Given the description of an element on the screen output the (x, y) to click on. 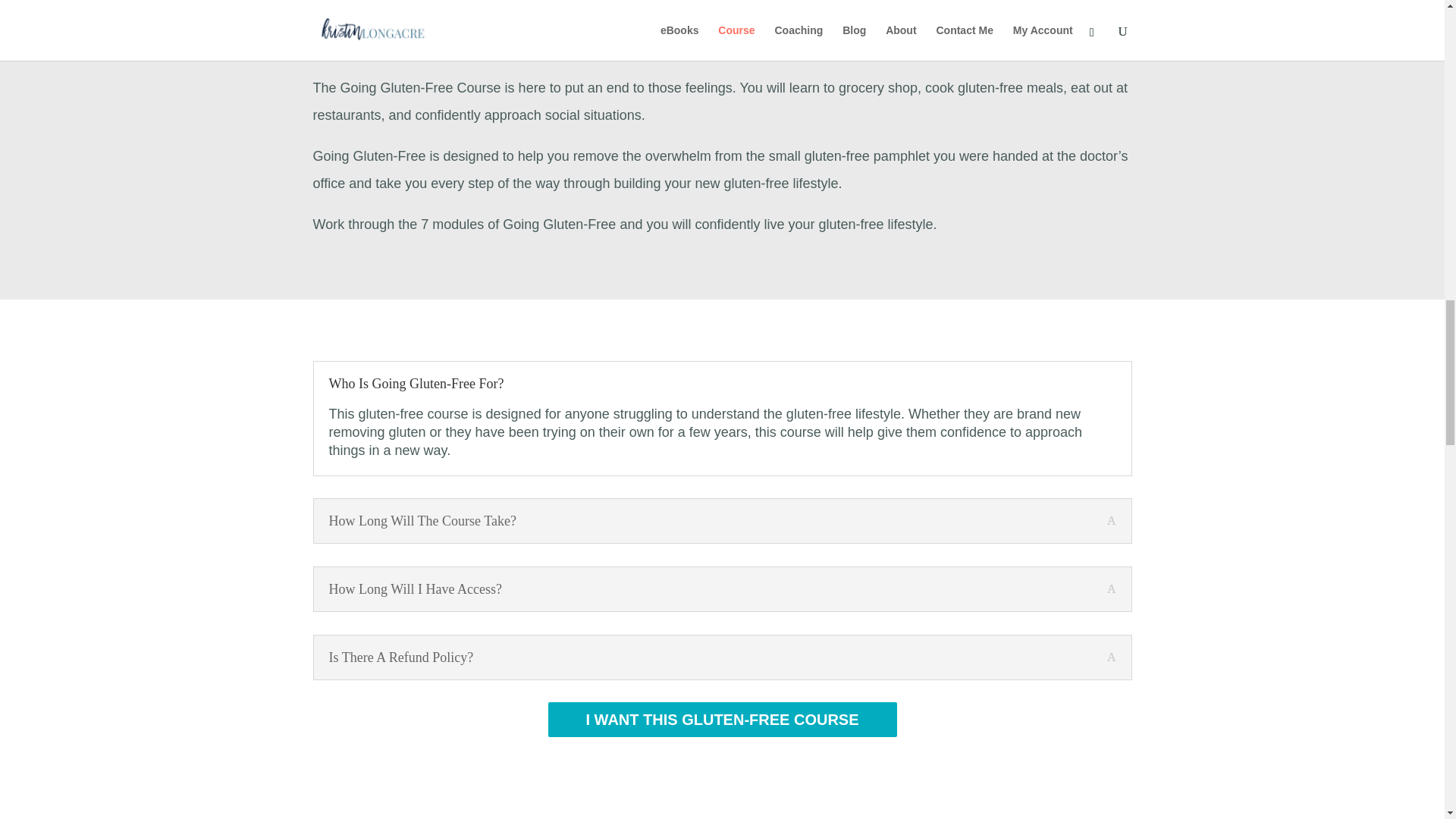
I WANT THIS GLUTEN-FREE COURSE (721, 719)
